Given the description of an element on the screen output the (x, y) to click on. 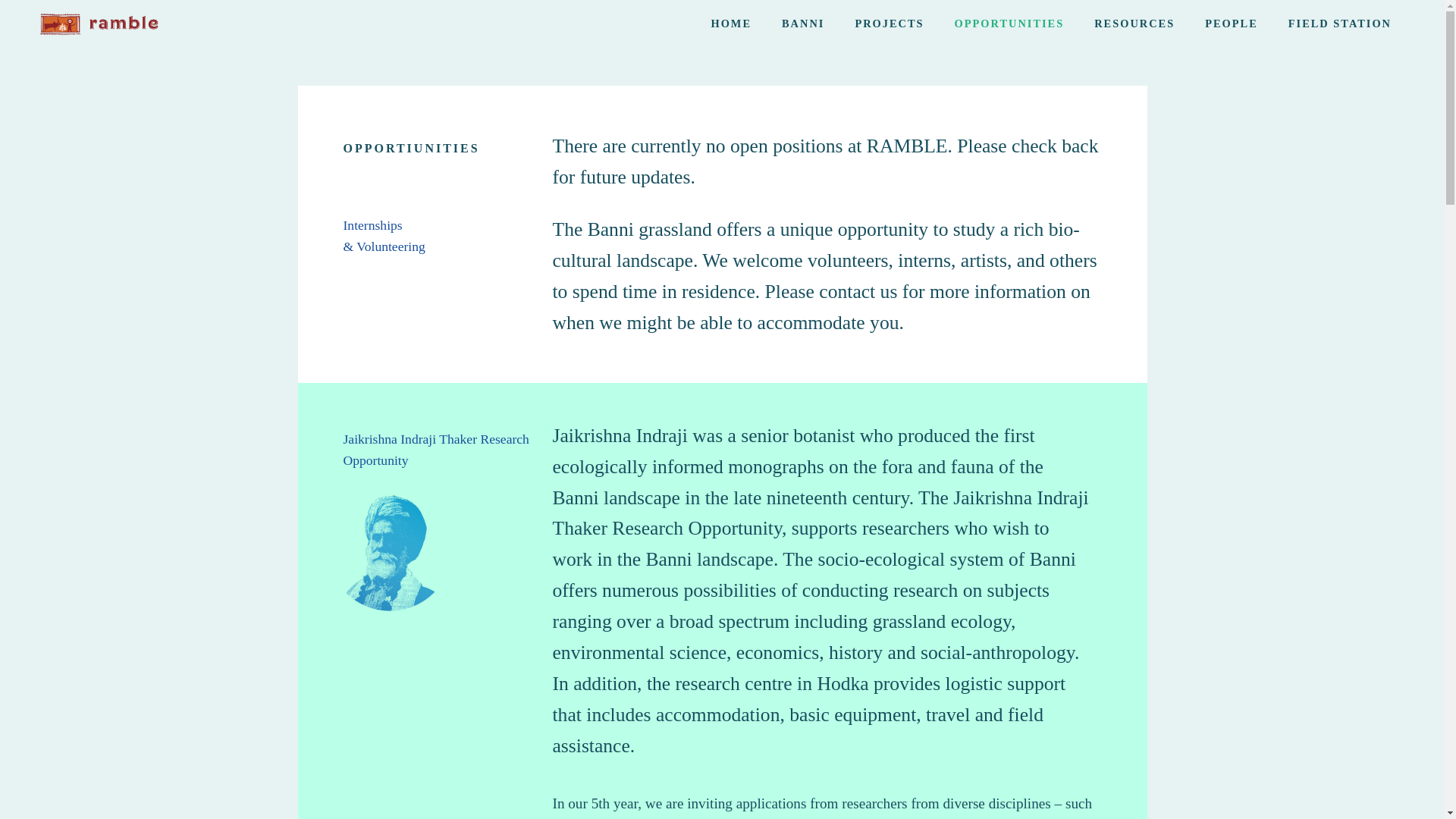
OPPORTUNITIES (1009, 23)
PROJECTS (889, 23)
PEOPLE (1230, 23)
RESOURCES (1133, 23)
HOME (731, 23)
FIELD STATION (1339, 23)
BANNI (803, 23)
